Given the description of an element on the screen output the (x, y) to click on. 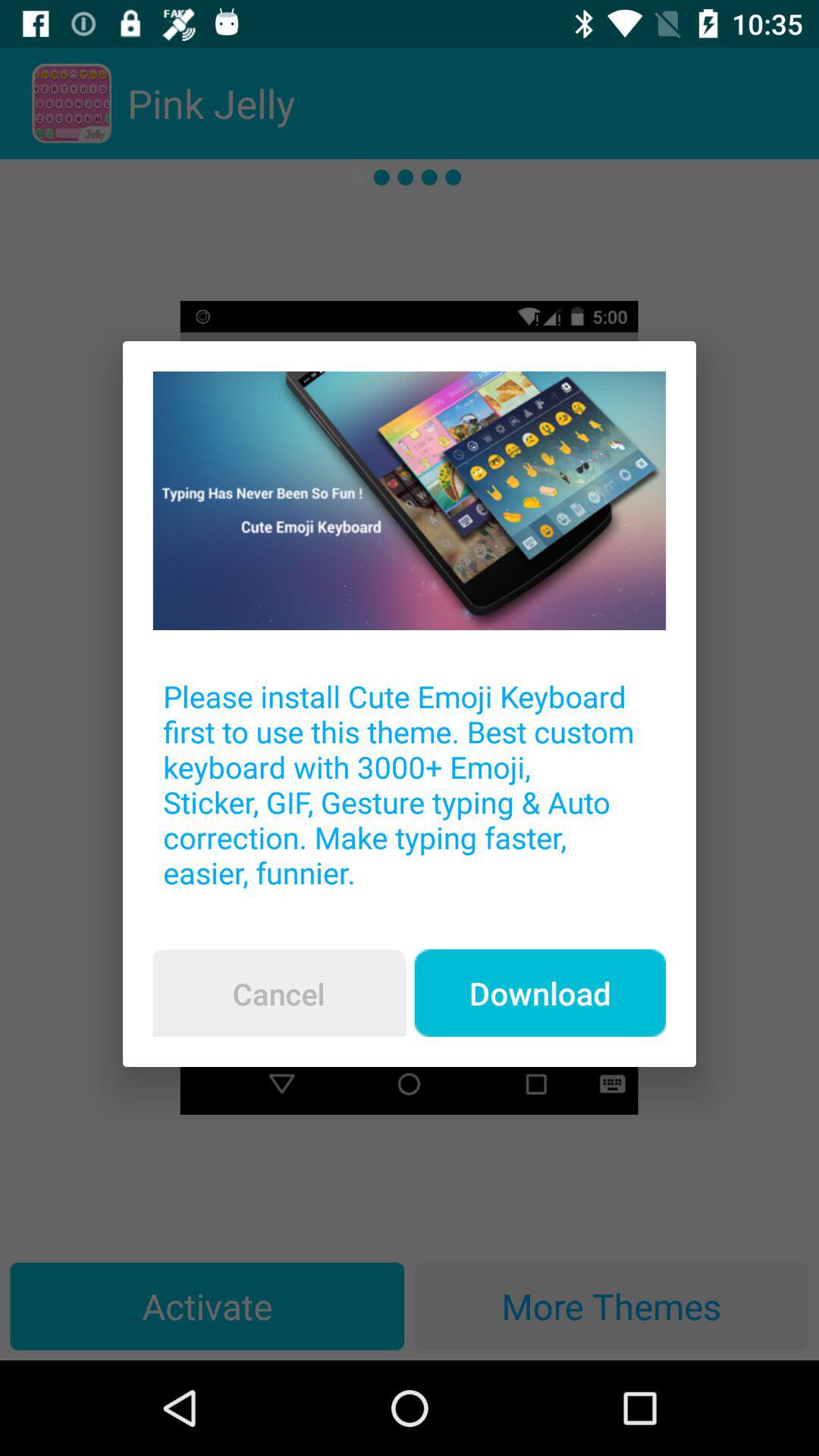
click the icon below the please install cute (540, 992)
